Given the description of an element on the screen output the (x, y) to click on. 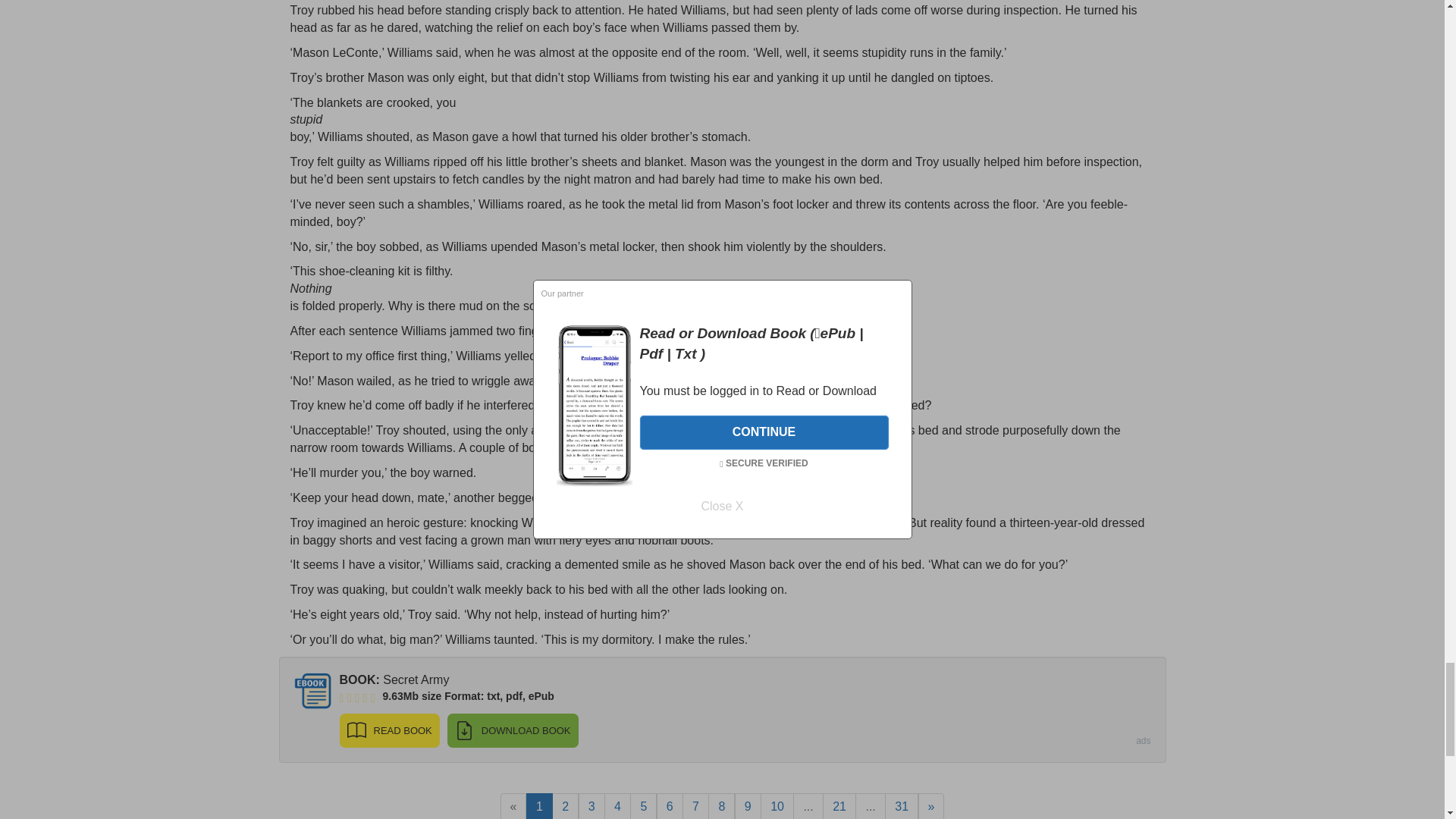
1 (539, 806)
2 (564, 806)
7 (695, 806)
6 (669, 806)
4 (617, 806)
DOWNLOAD BOOK (512, 730)
9 (748, 806)
READ BOOK (389, 730)
5 (643, 806)
8 (721, 806)
3 (591, 806)
31 (901, 806)
21 (839, 806)
10 (776, 806)
